Given the description of an element on the screen output the (x, y) to click on. 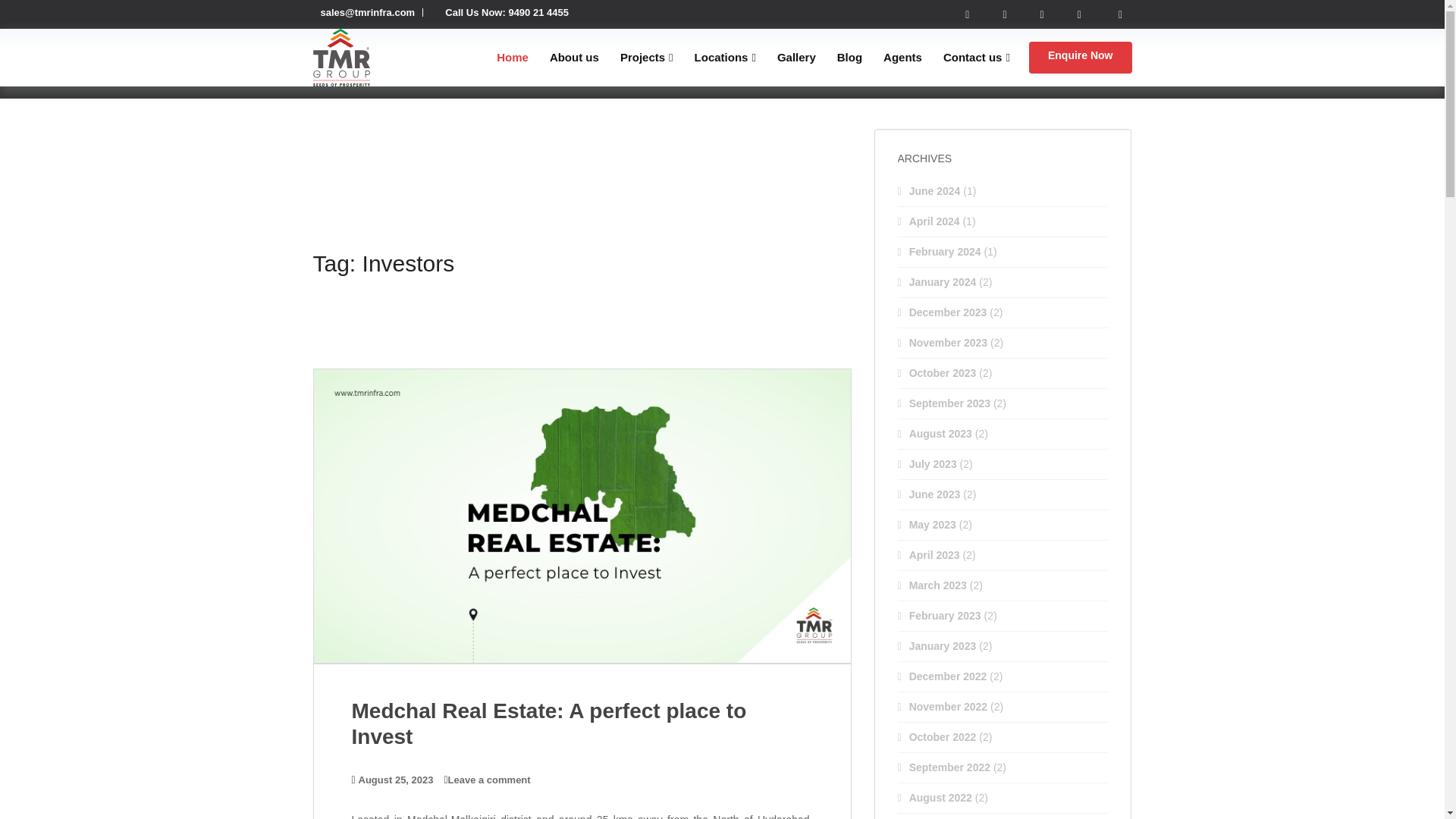
Agents (902, 57)
Projects (646, 57)
Contact us (976, 57)
Enquire Now (1080, 57)
Blog (849, 57)
About us (574, 57)
Locations (724, 57)
Home (512, 57)
Gallery (796, 57)
Call Us Now: 9490 21 4455 (503, 12)
Enquire Now (1080, 57)
